Given the description of an element on the screen output the (x, y) to click on. 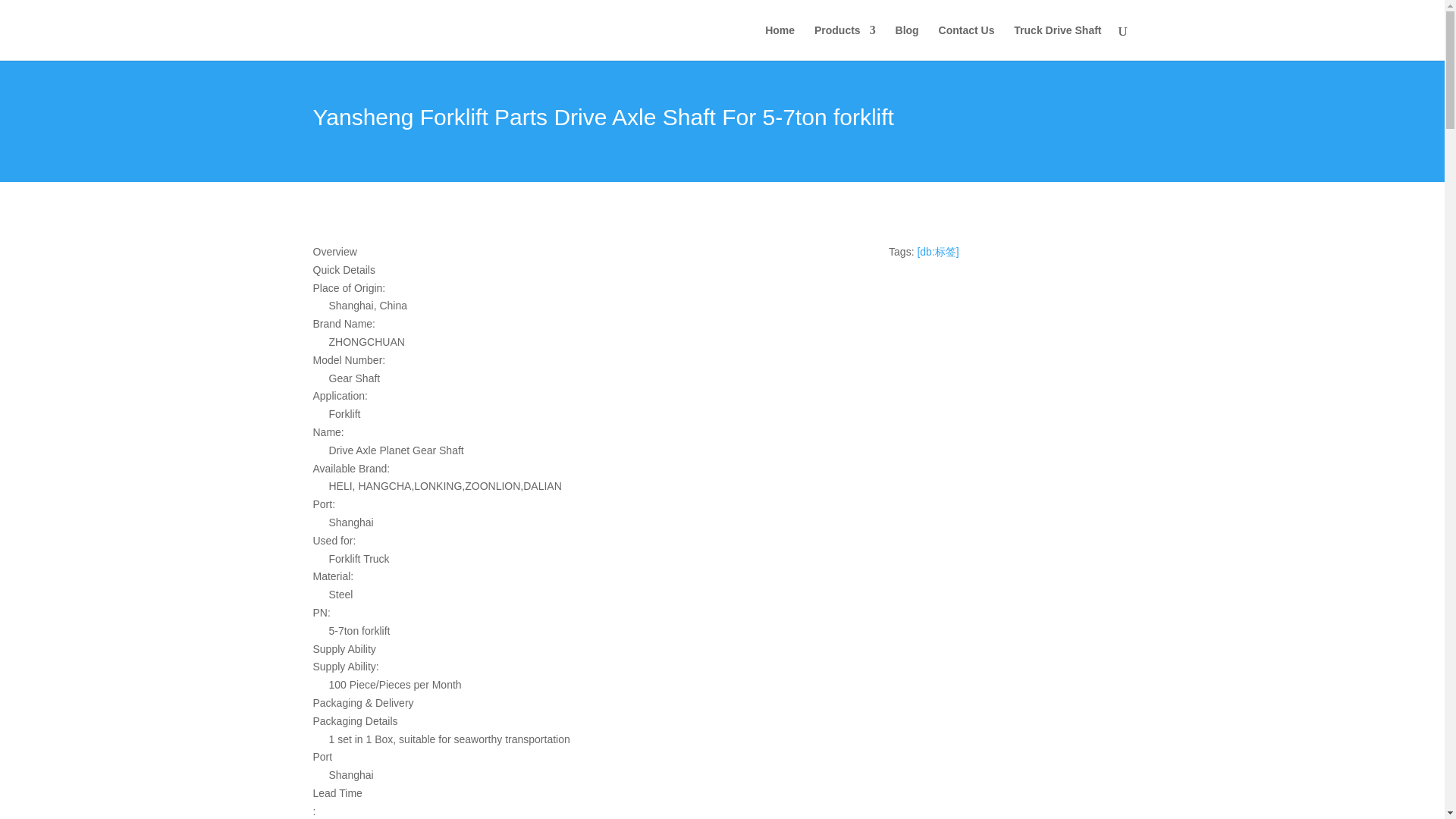
Products (844, 42)
Lead Time (578, 801)
Truck Drive Shaft (1056, 42)
Contact Us (966, 42)
1 set in 1 Box,  suitable for seaworthy transportation (586, 740)
Shanghai (586, 775)
Port (578, 757)
Packaging Details (578, 721)
